Given the description of an element on the screen output the (x, y) to click on. 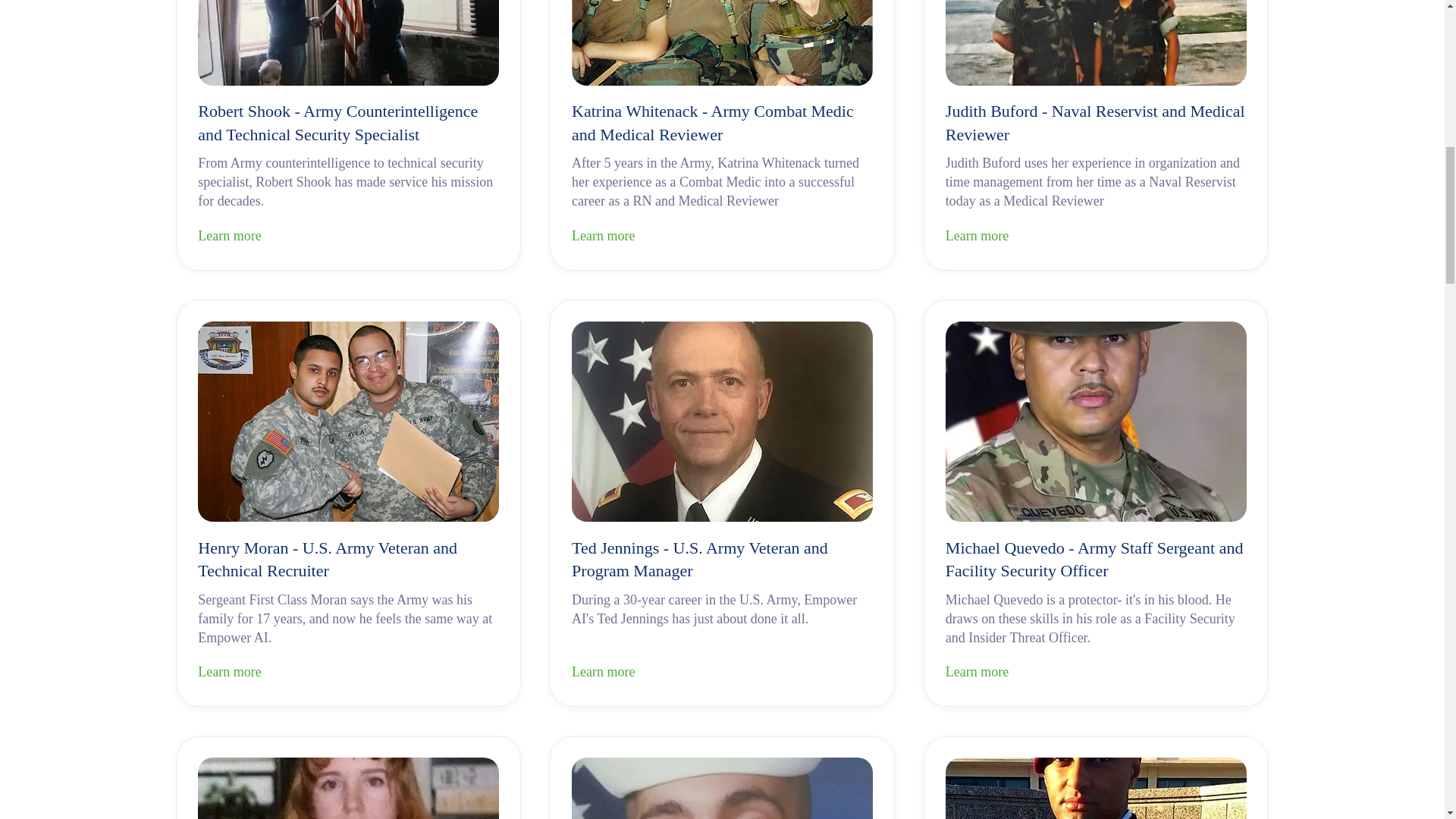
Learn more (722, 672)
Learn more (1095, 672)
Learn more (722, 237)
Learn more (348, 672)
Learn more (1095, 237)
Learn more (348, 237)
